Given the description of an element on the screen output the (x, y) to click on. 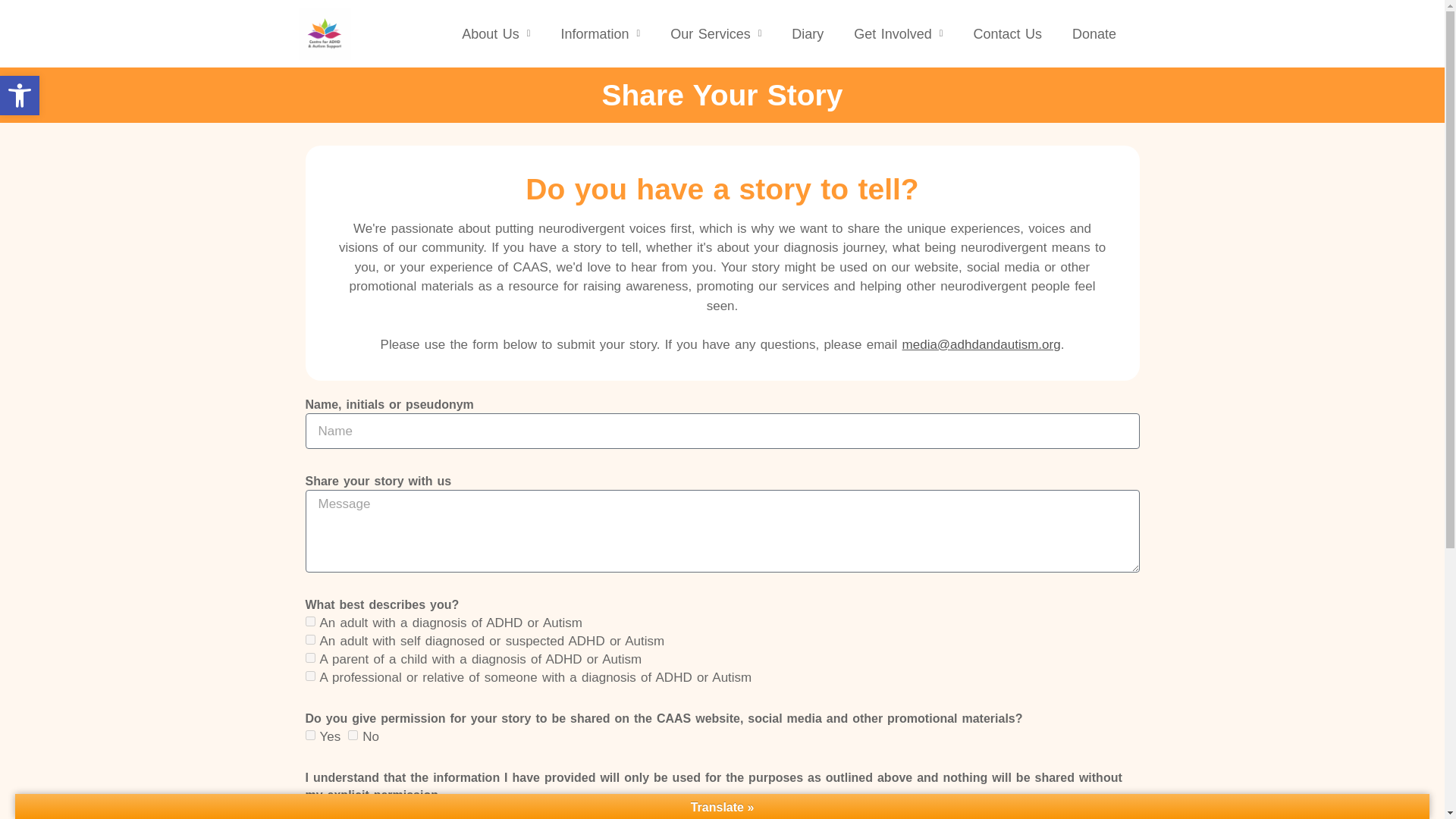
Diary (807, 33)
Accessibility Tools (19, 95)
Our Services (715, 33)
Yes (309, 735)
No (352, 735)
A parent of a child with  a diagnosis of ADHD or Autism (309, 657)
An adult with self diagnosed or suspected ADHD or Autism (309, 639)
Get Involved (898, 33)
Information (599, 33)
An adult with a diagnosis of ADHD or Autism (309, 621)
CAAS-Logo-2022-Square-Colour-White (324, 33)
on (309, 811)
Accessibility Tools (19, 95)
